Given the description of an element on the screen output the (x, y) to click on. 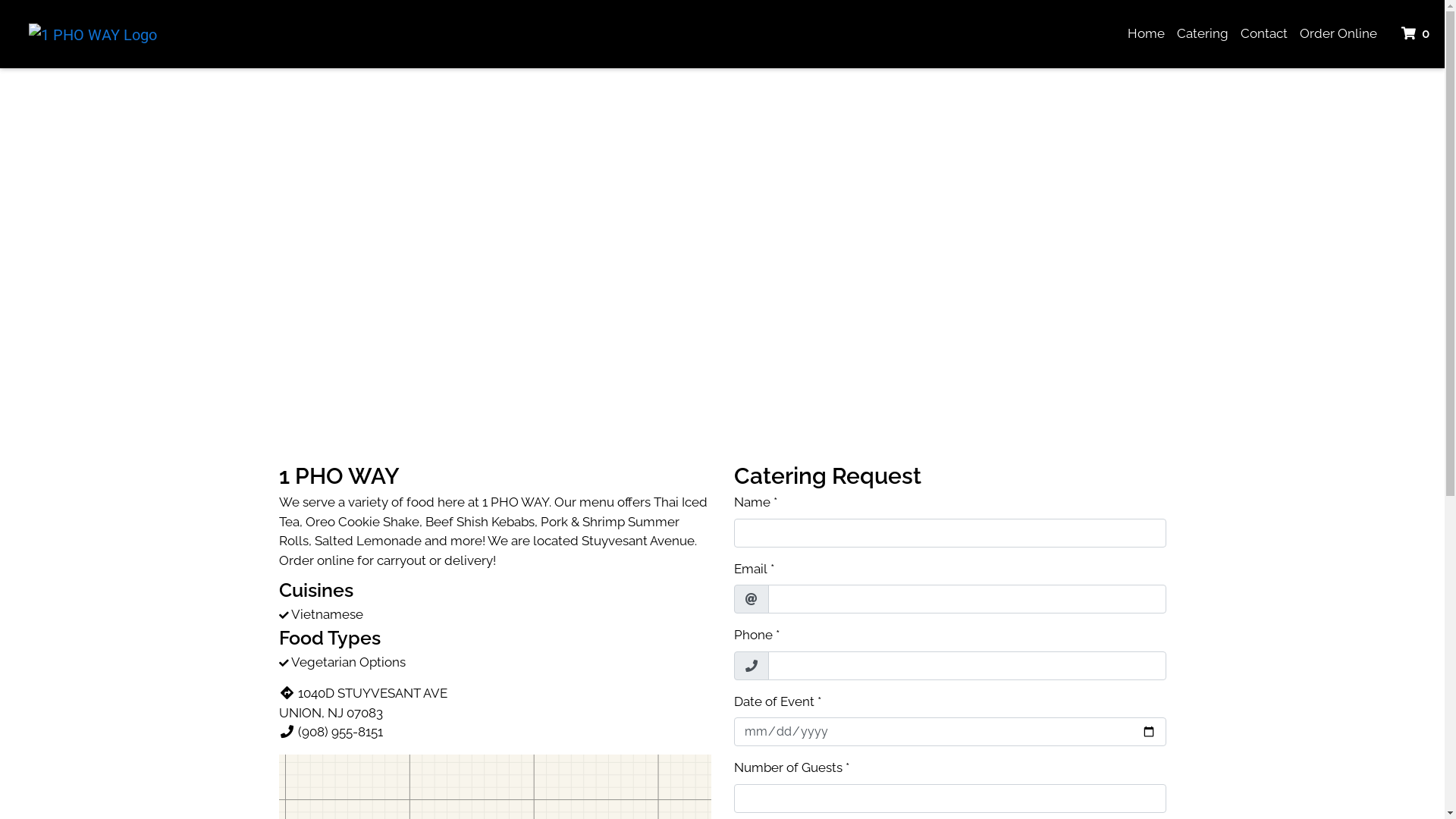
Order Online Element type: text (1338, 34)
0
 items in Cart Element type: text (1416, 34)
1040D STUYVESANT AVE
UNION, NJ 07083 Element type: text (363, 702)
(908) 955-8151 Element type: text (330, 731)
Catering Element type: text (1202, 34)
Home Element type: text (1145, 34)
Contact Element type: text (1263, 34)
